Given the description of an element on the screen output the (x, y) to click on. 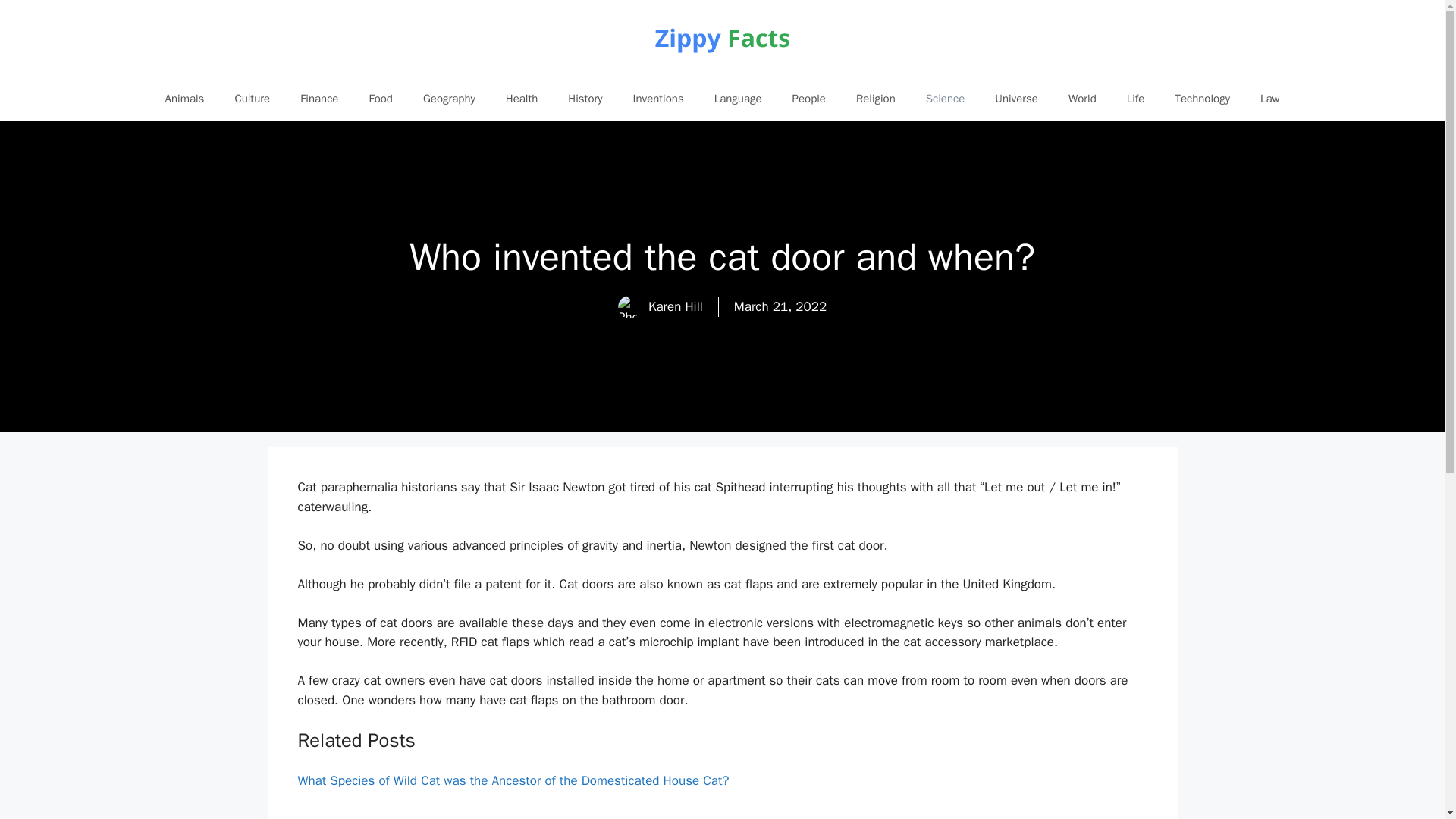
Finance (319, 98)
Animals (184, 98)
Law (1269, 98)
History (585, 98)
Religion (876, 98)
Food (380, 98)
People (809, 98)
Life (1136, 98)
Science (945, 98)
Health (521, 98)
Universe (1015, 98)
Geography (448, 98)
Culture (252, 98)
Technology (1201, 98)
